Given the description of an element on the screen output the (x, y) to click on. 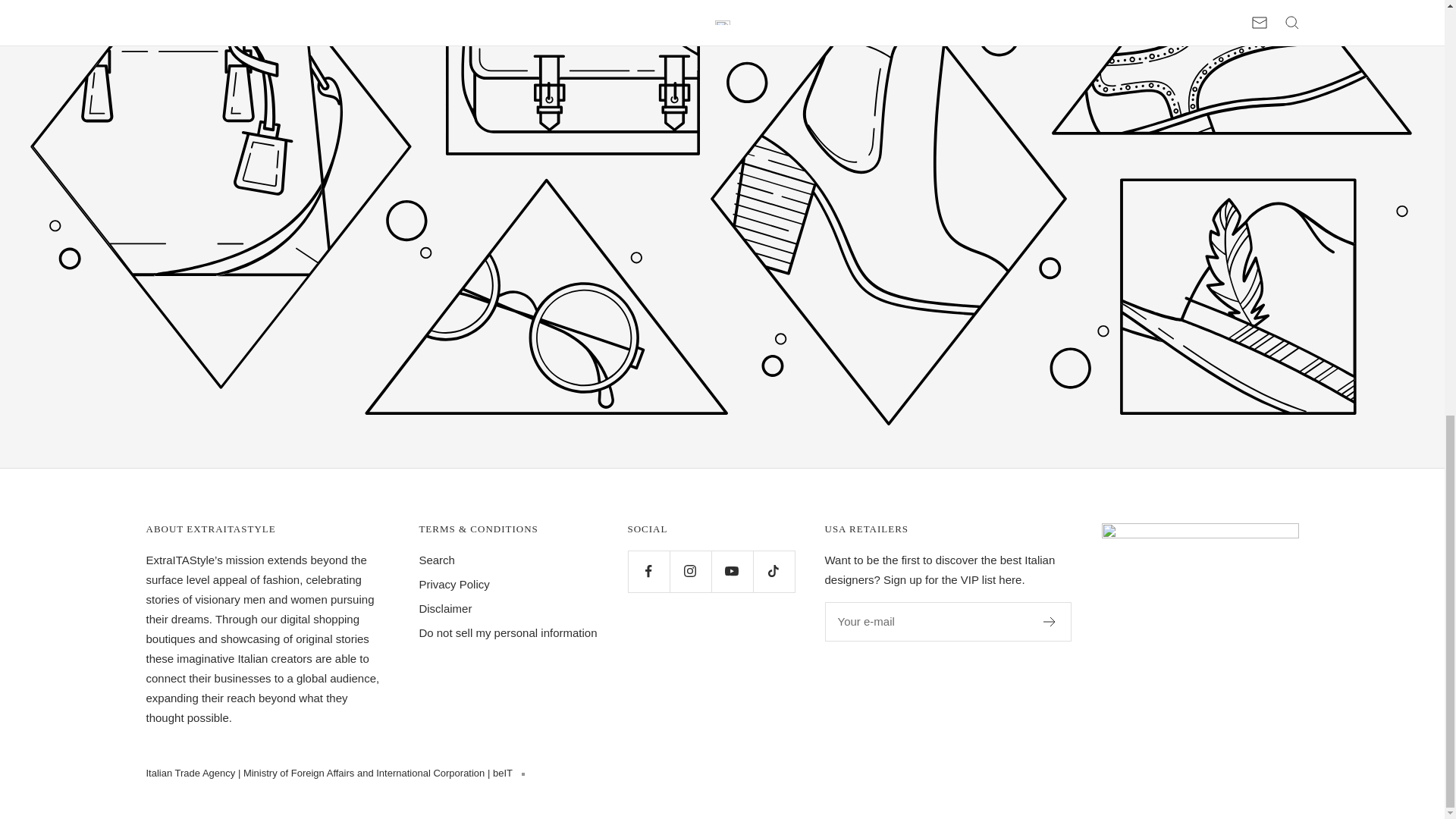
Search (436, 560)
Privacy Policy (454, 584)
Register (1050, 621)
Disclaimer (445, 608)
Do not sell my personal information (507, 632)
